Given the description of an element on the screen output the (x, y) to click on. 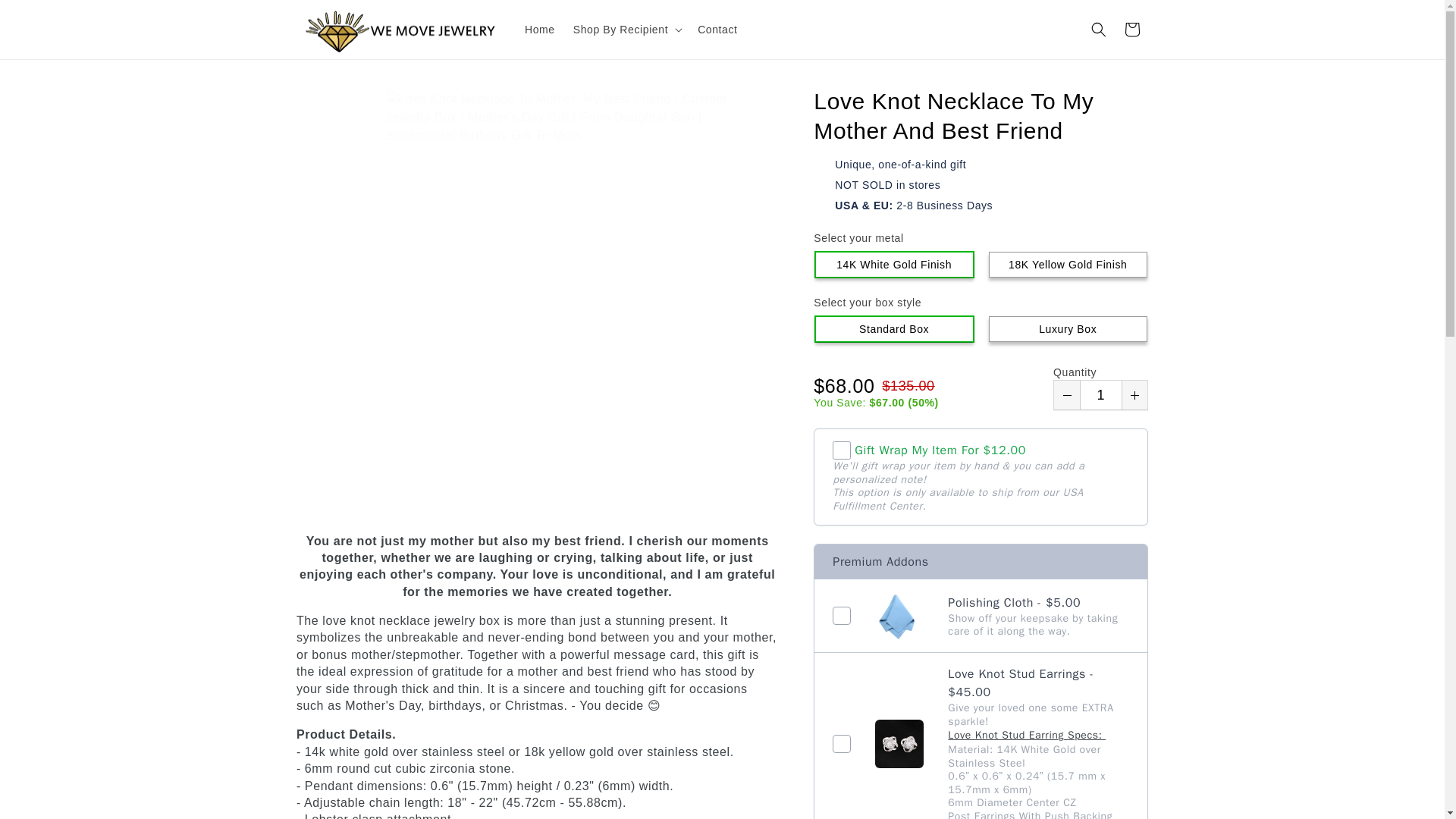
Skip to content (45, 17)
on (841, 615)
Cart (1131, 29)
1 (1100, 394)
on (841, 743)
Contact (716, 29)
on (841, 450)
Home (539, 29)
